Given the description of an element on the screen output the (x, y) to click on. 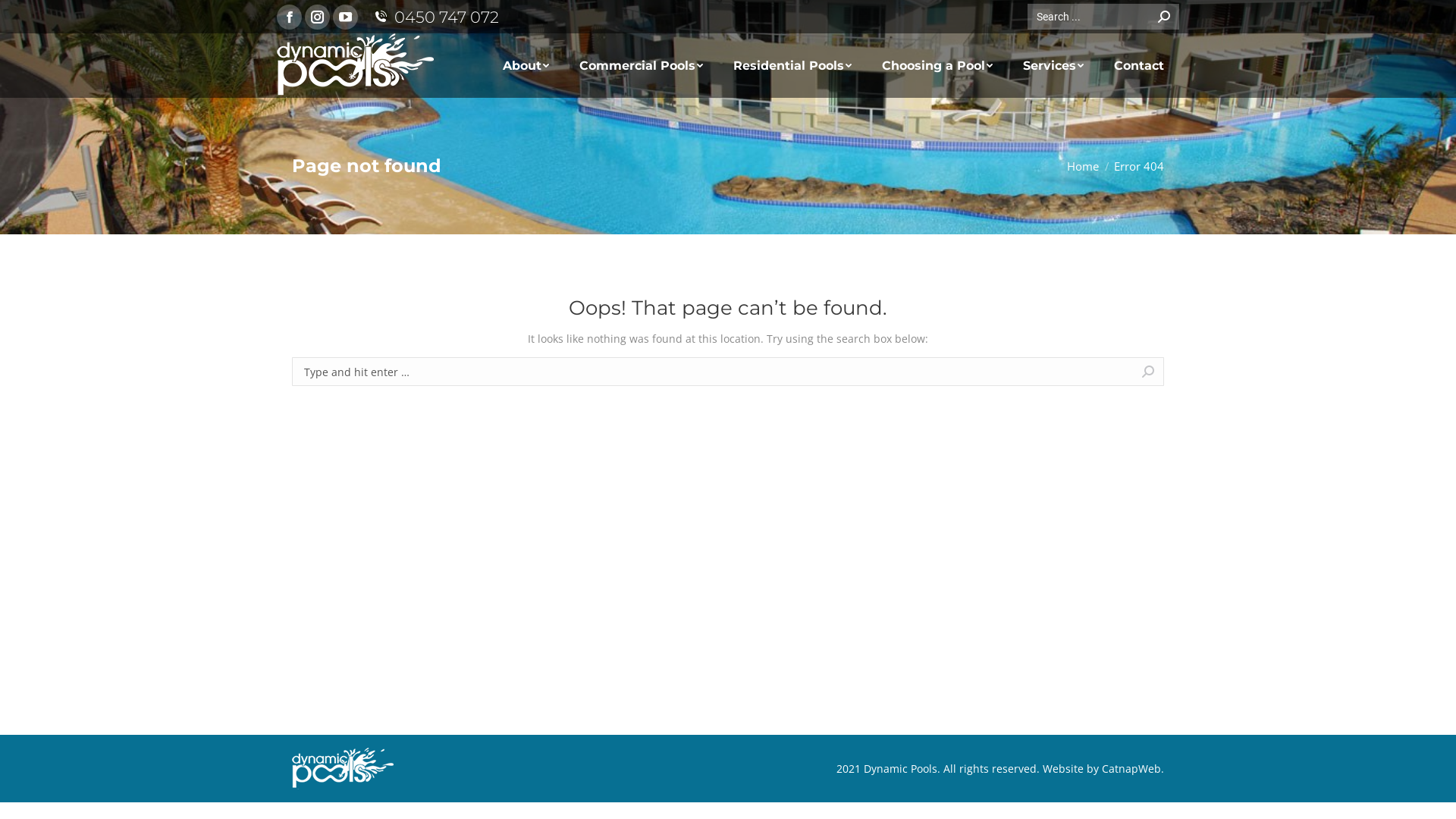
Instagram page opens in new window Element type: text (316, 16)
0450 747 072 Element type: text (435, 16)
Commercial Pools Element type: text (641, 65)
Contact Element type: text (1138, 65)
Website by CatnapWeb Element type: text (1101, 768)
Services Element type: text (1052, 65)
Choosing a Pool Element type: text (936, 65)
YouTube page opens in new window Element type: text (344, 16)
Search form Element type: hover (1103, 16)
About Element type: text (525, 65)
Go! Element type: text (1189, 373)
Go! Element type: text (25, 15)
Facebook page opens in new window Element type: text (288, 16)
Home Element type: text (1082, 165)
Residential Pools Element type: text (792, 65)
